Given the description of an element on the screen output the (x, y) to click on. 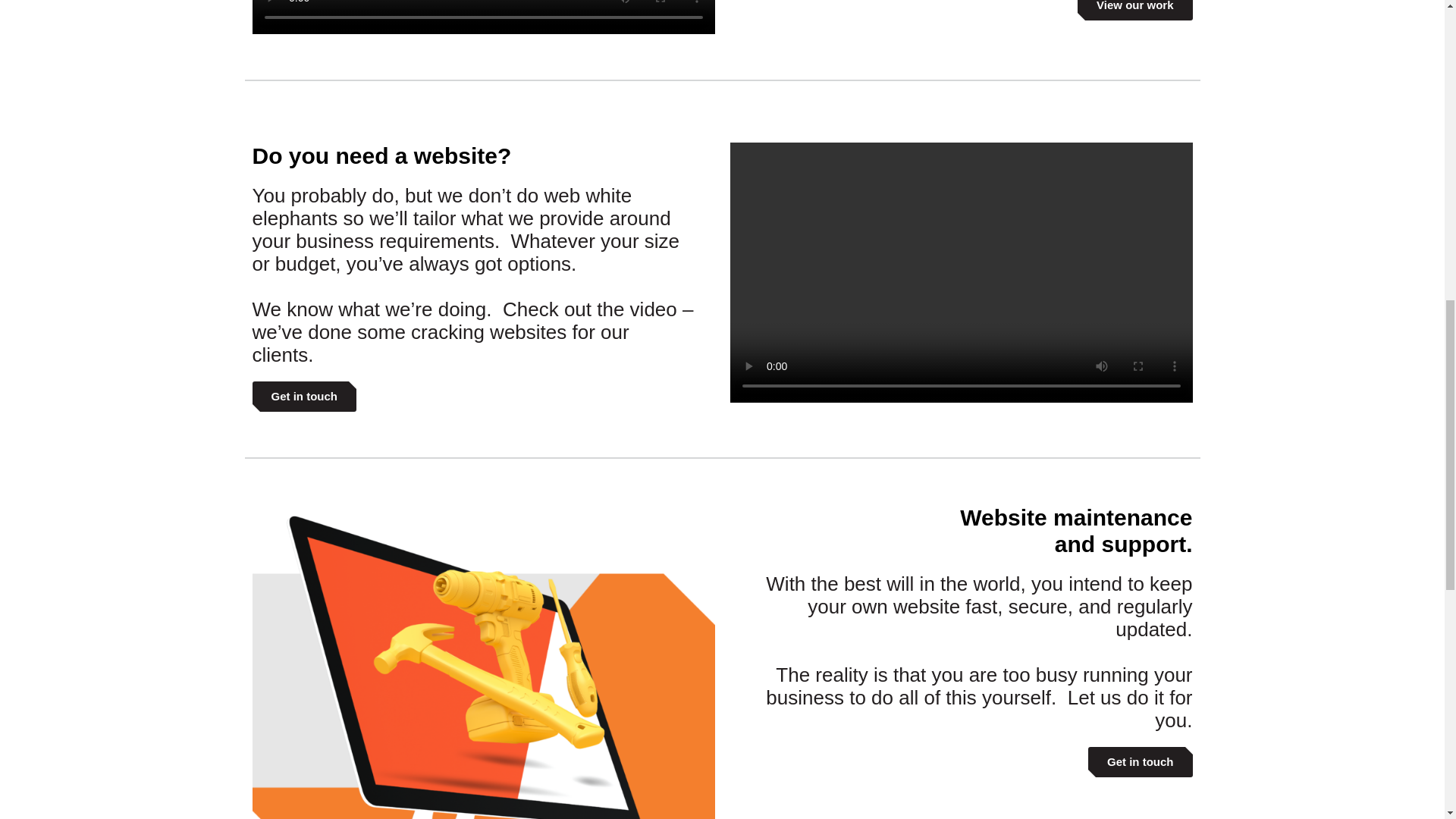
Get in touch (303, 396)
View our work (1134, 9)
Get in touch (1139, 761)
